Given the description of an element on the screen output the (x, y) to click on. 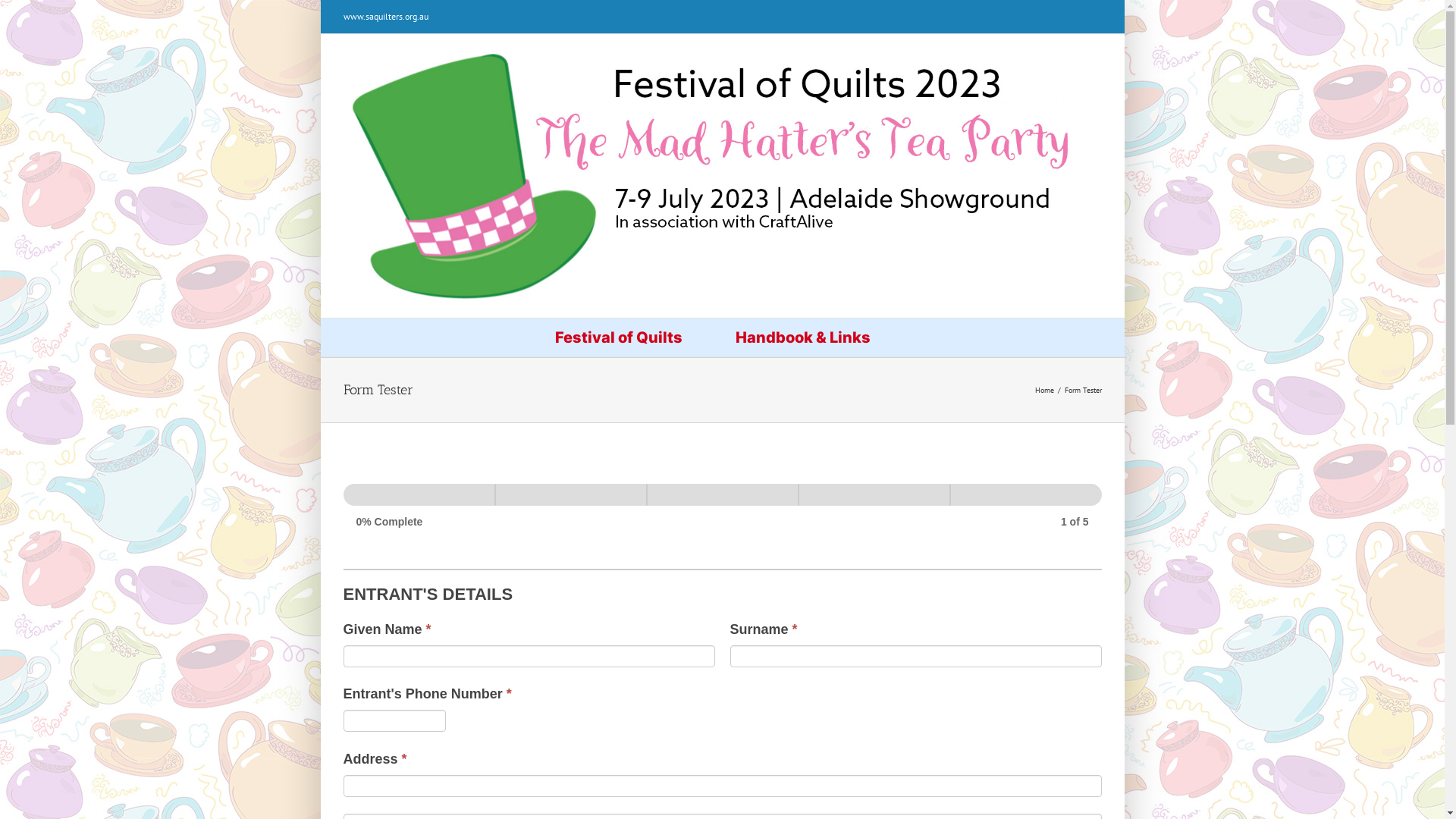
Festival of Quilts Element type: text (618, 337)
Home Element type: text (1043, 390)
Handbook & Links Element type: text (803, 337)
